Given the description of an element on the screen output the (x, y) to click on. 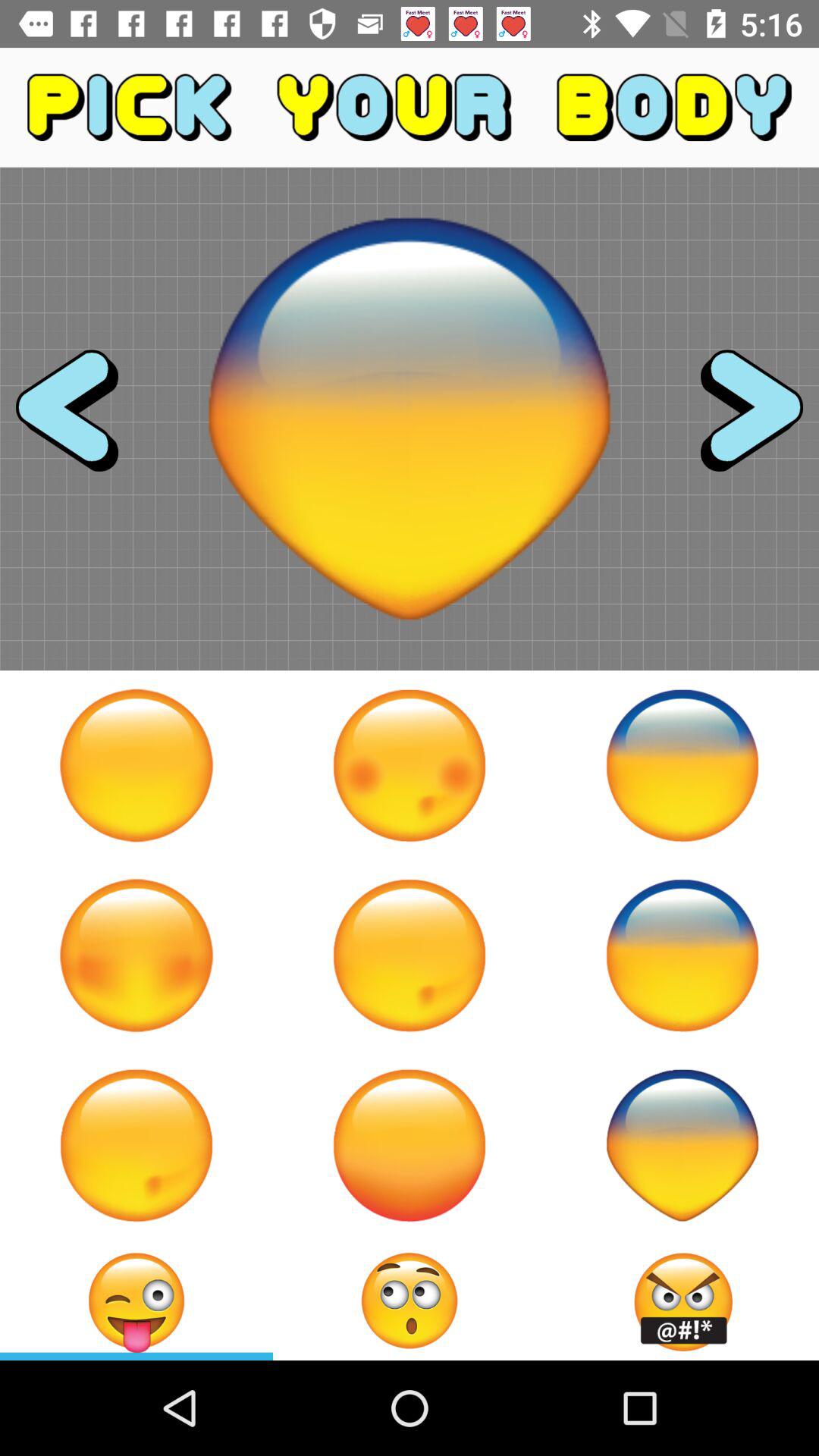
choose body (682, 1145)
